Given the description of an element on the screen output the (x, y) to click on. 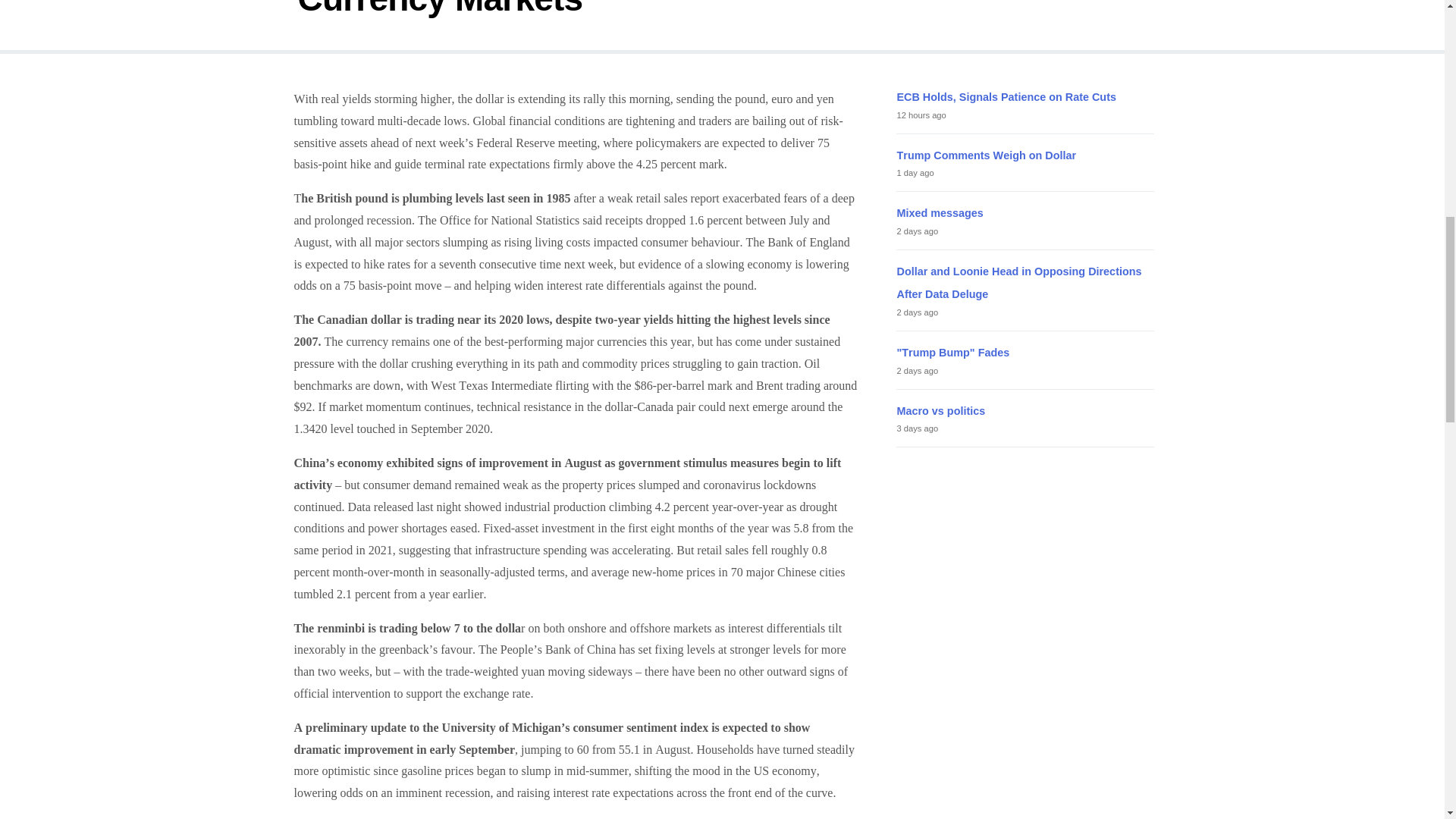
ECB Holds, Signals Patience on Rate Cuts (1005, 96)
Trump Comments Weigh on Dollar (985, 155)
Mixed messages (939, 213)
"Trump Bump" Fades (952, 352)
Macro vs politics (940, 410)
